Given the description of an element on the screen output the (x, y) to click on. 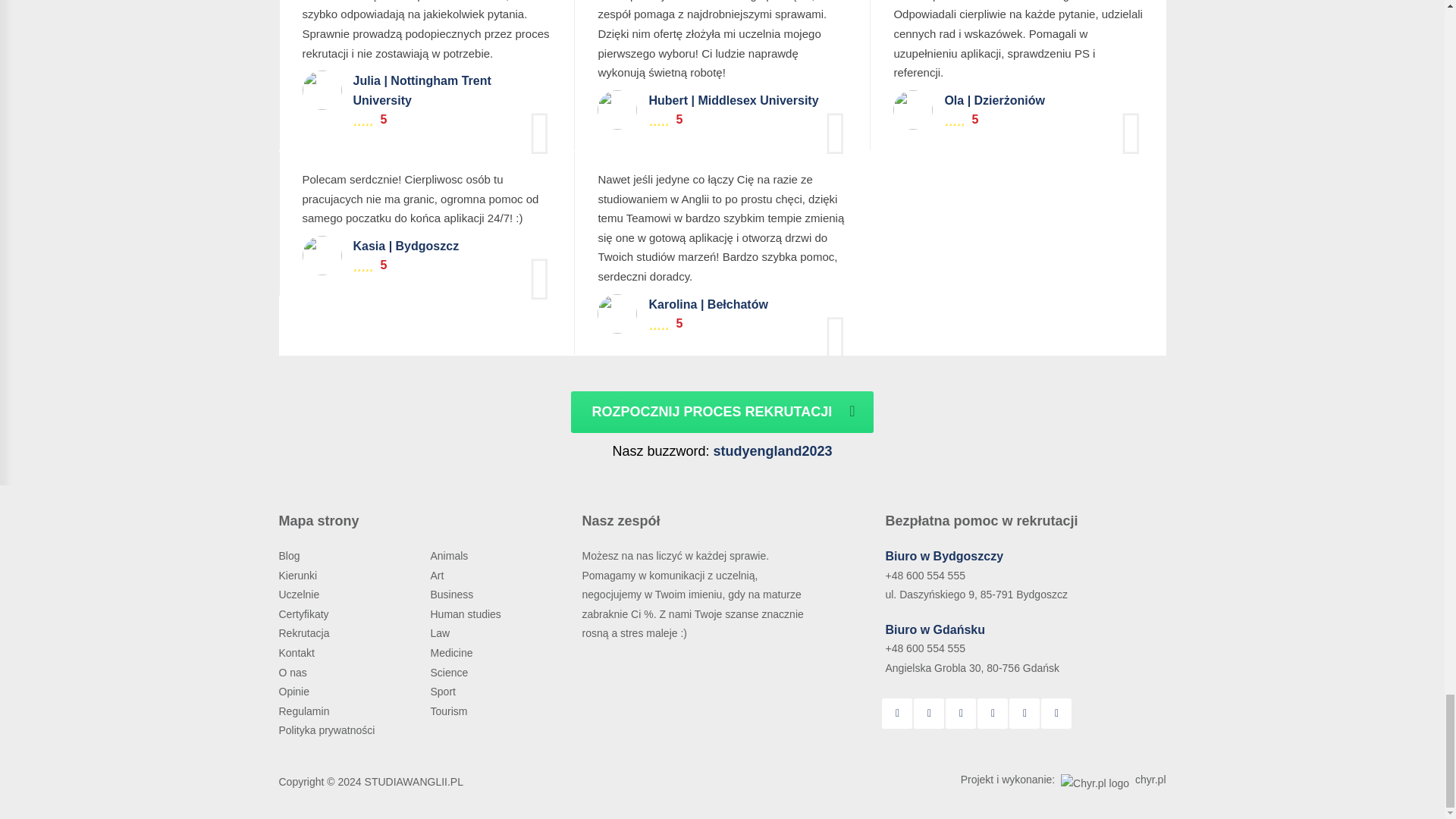
Certyfikaty (305, 613)
Blog (290, 555)
Kierunki (299, 575)
Kontakt (298, 653)
Uczelnie (300, 594)
ROZPOCZNIJ PROCES REKRUTACJI (721, 412)
Rekrutacja (306, 633)
